Given the description of an element on the screen output the (x, y) to click on. 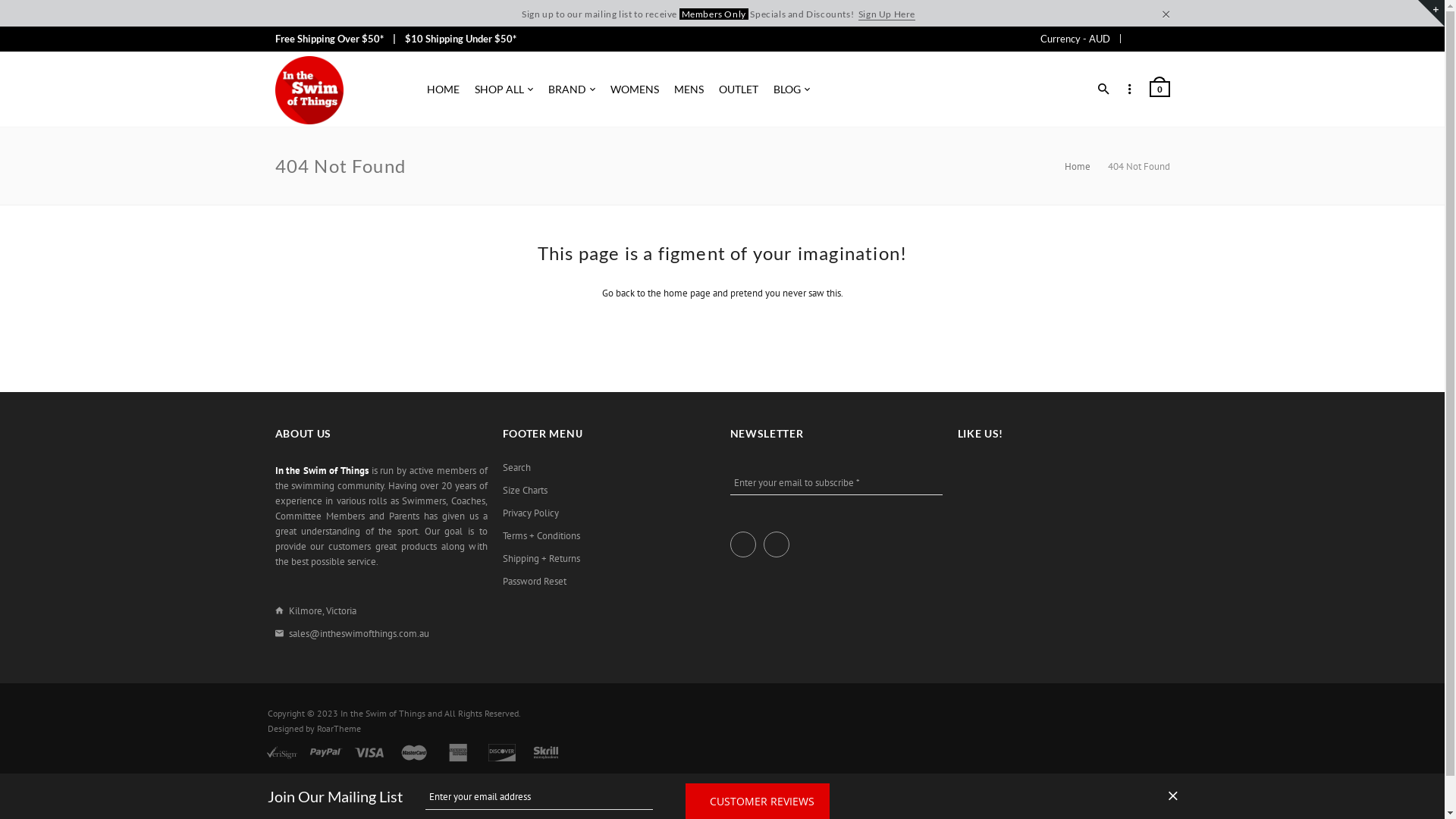
Search Element type: text (516, 467)
SHOP ALL Element type: text (503, 89)
OUTLET Element type: text (738, 89)
sales@intheswimofthings.com.au Element type: text (358, 633)
home page Element type: text (685, 292)
In the Swim of Things Element type: text (381, 712)
Terms + Conditions Element type: text (540, 535)
Password Reset Element type: text (533, 581)
MENS Element type: text (687, 89)
Privacy Policy Element type: text (530, 513)
Currency - AUD Element type: text (1075, 38)
BLOG Element type: text (791, 89)
Home Element type: text (1078, 166)
Shipping + Returns Element type: text (540, 558)
RoarTheme Element type: text (338, 728)
In the Swim of Things Element type: hover (308, 90)
Sign Up Here Element type: text (886, 14)
WOMENS Element type: text (633, 89)
HOME Element type: text (442, 89)
BRAND Element type: text (570, 89)
Size Charts Element type: text (524, 490)
